Given the description of an element on the screen output the (x, y) to click on. 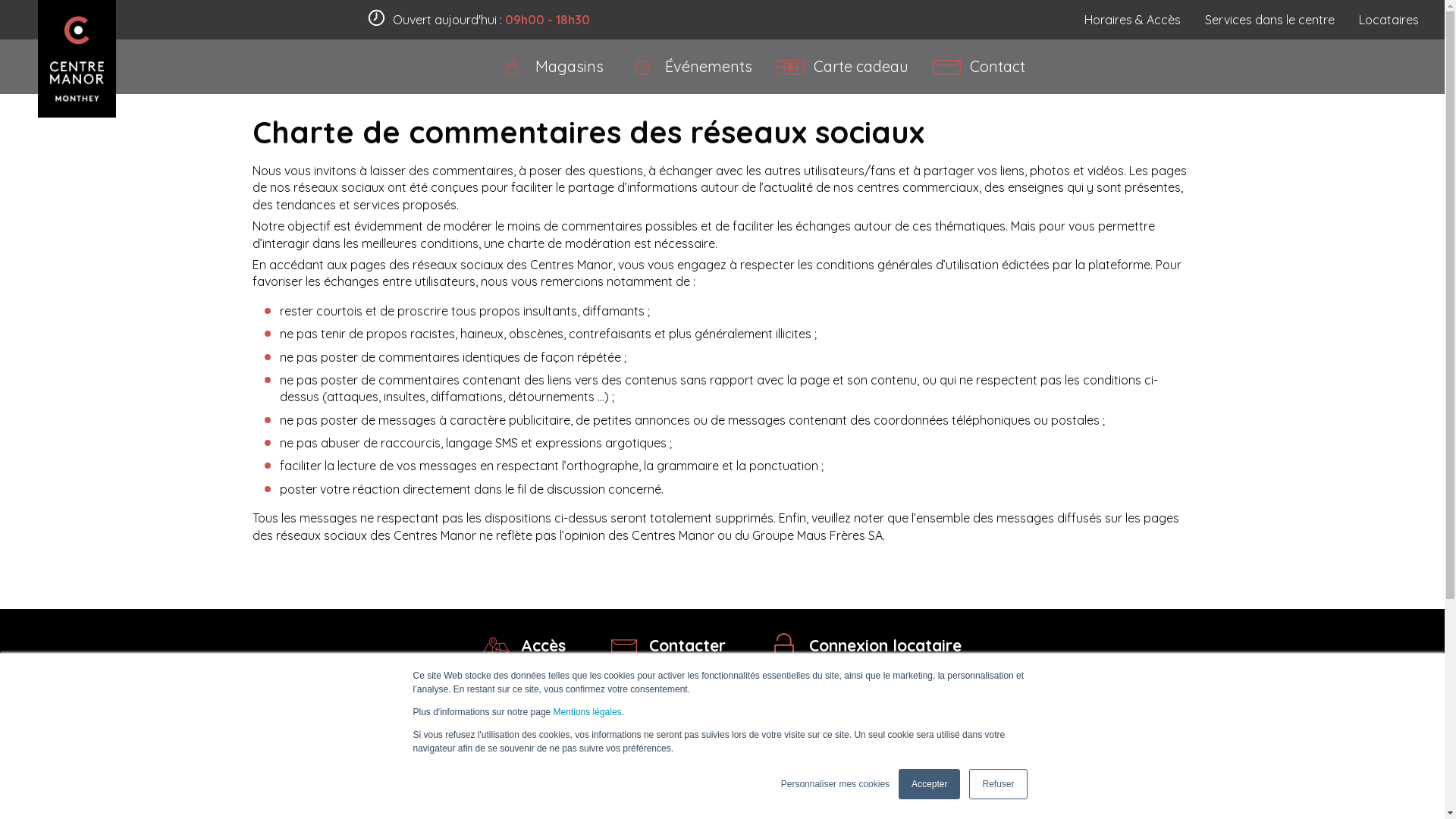
Carte cadeau Element type: text (842, 66)
Locataires Element type: text (1388, 19)
Services dans le centre Element type: text (1269, 19)
Contact Element type: text (978, 66)
Accepter Element type: text (929, 783)
Personnaliser mes cookies Element type: text (835, 783)
Connexion locataire Element type: text (866, 645)
Refuser Element type: text (997, 783)
Contacter Element type: text (668, 645)
Magasins Element type: text (550, 66)
